Given the description of an element on the screen output the (x, y) to click on. 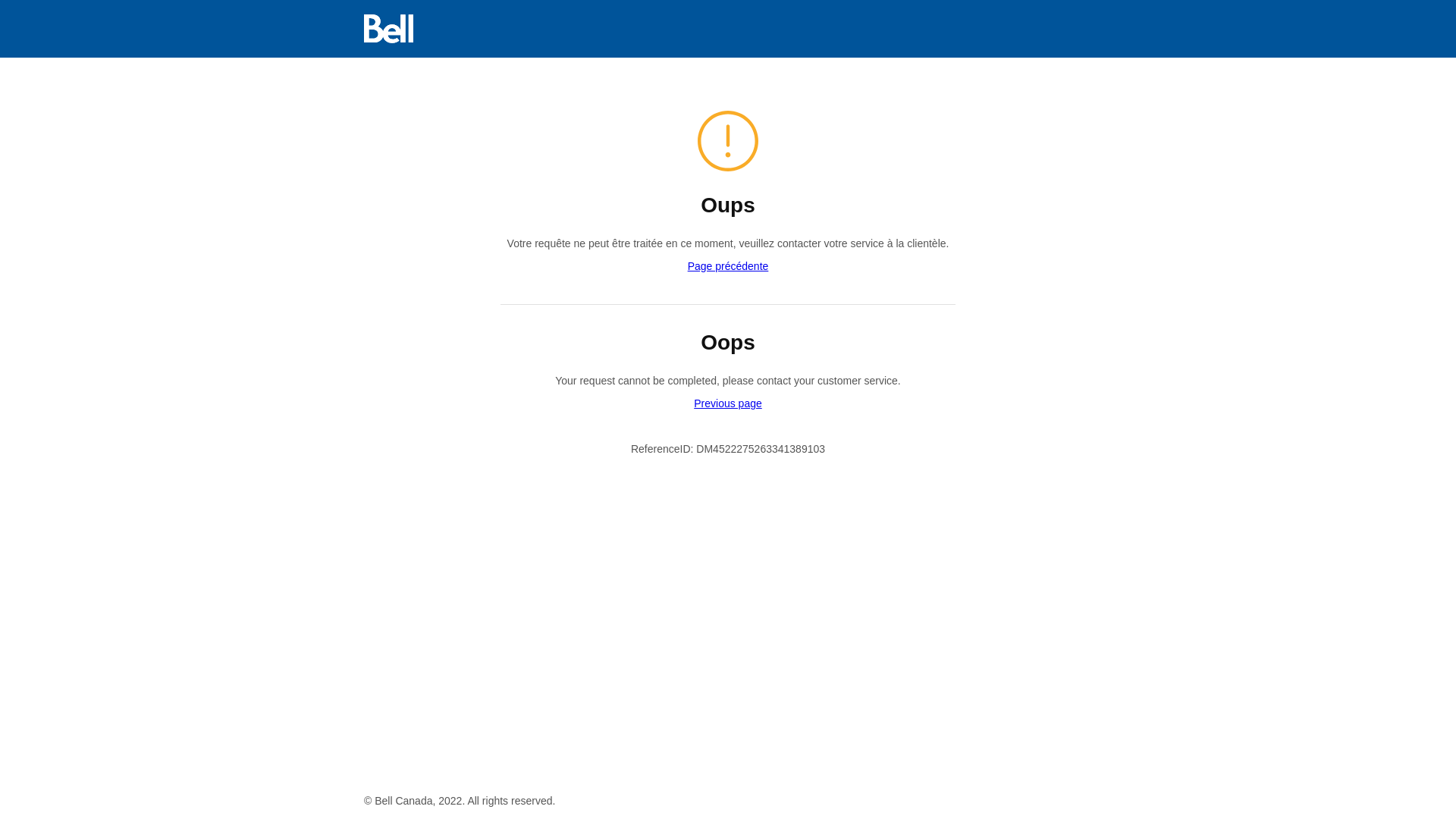
Previous page Element type: text (728, 403)
